Given the description of an element on the screen output the (x, y) to click on. 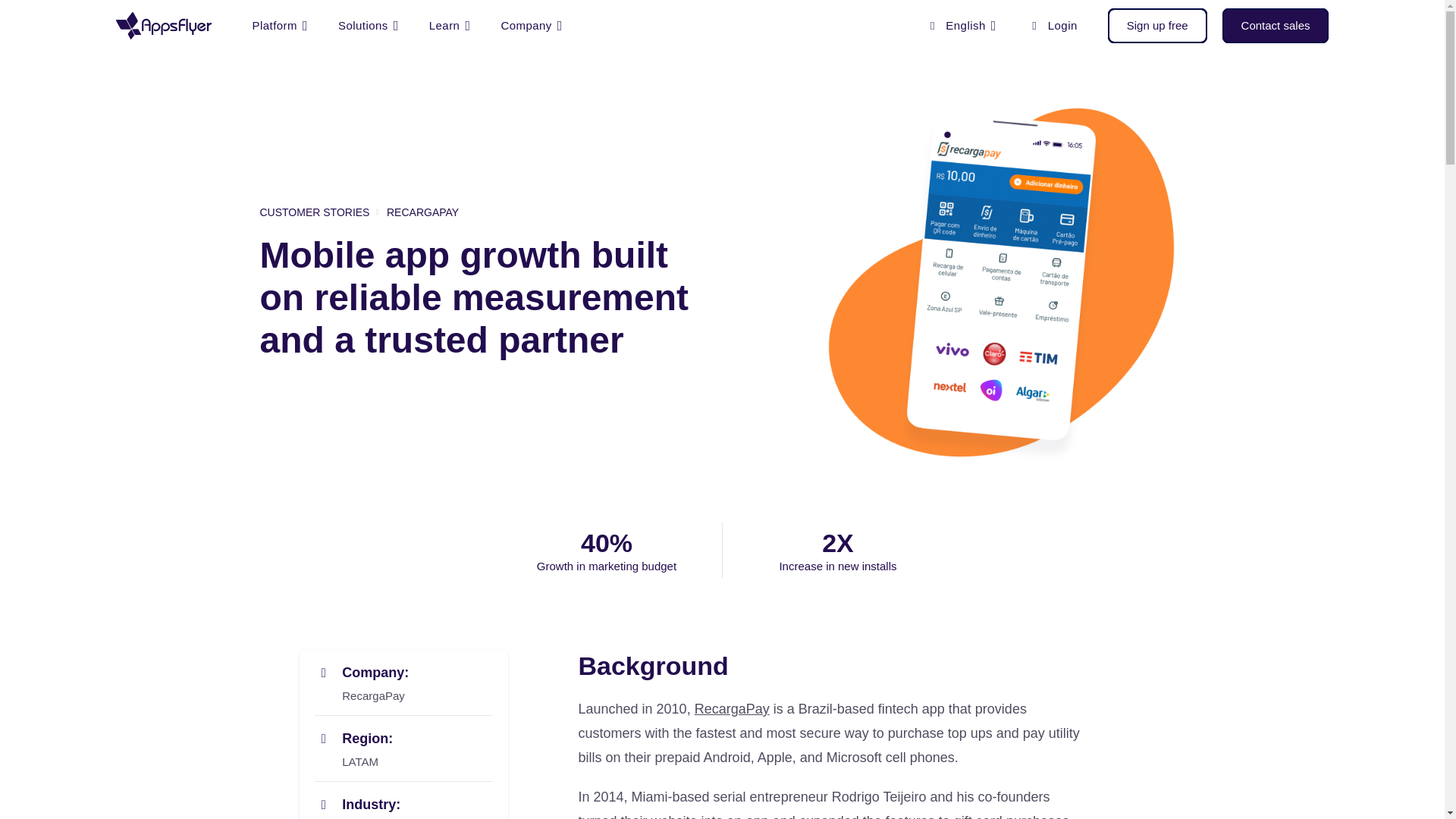
Solutions (368, 25)
Platform (278, 25)
Platform (278, 25)
Solutions (368, 25)
